Given the description of an element on the screen output the (x, y) to click on. 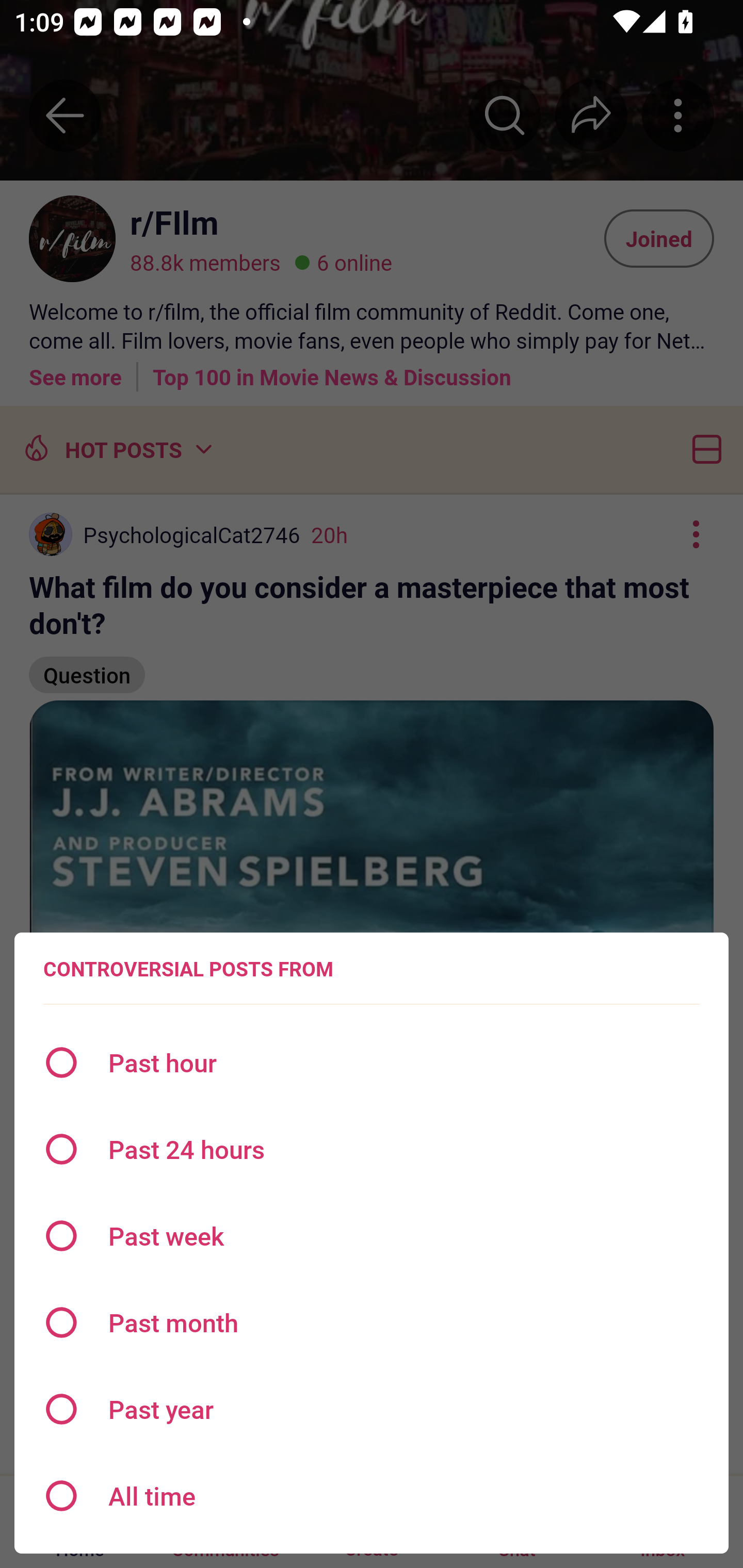
CONTROVERSIAL POSTS FROM (188, 968)
Past hour (371, 1062)
Past 24 hours (371, 1149)
Past week (371, 1236)
Past month (371, 1322)
Past year (371, 1408)
All time (371, 1495)
